Given the description of an element on the screen output the (x, y) to click on. 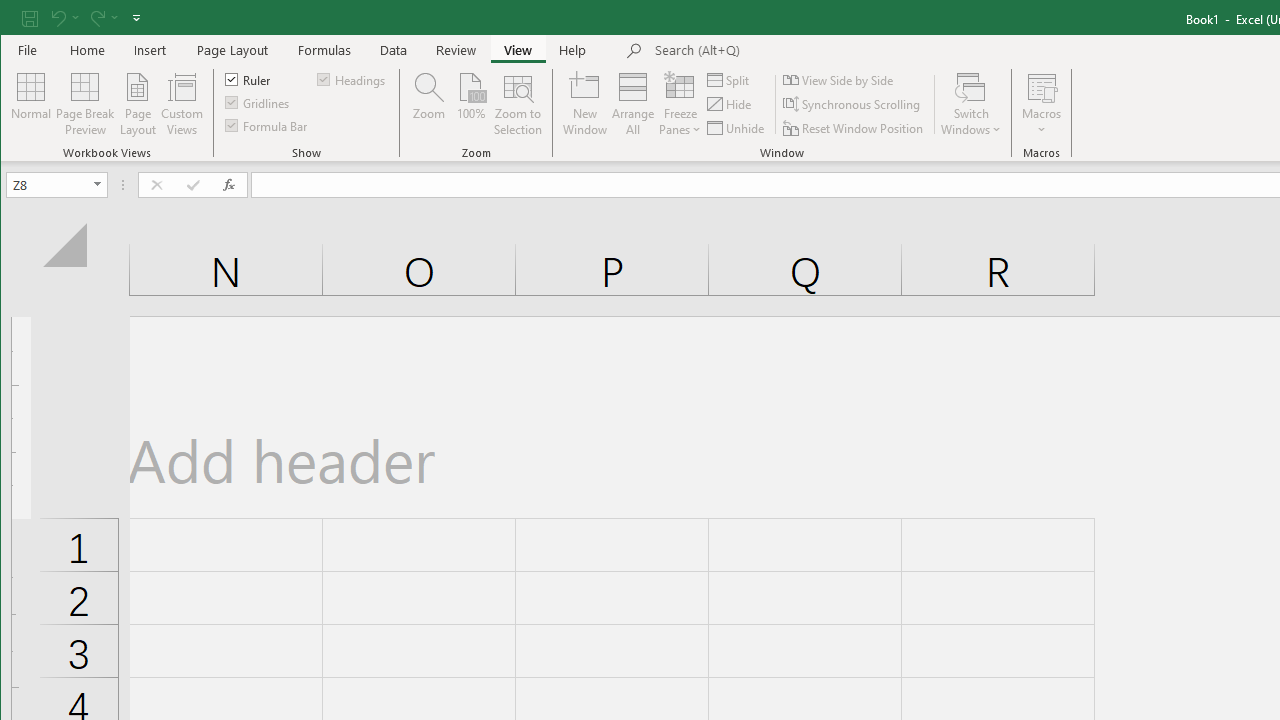
View (518, 50)
Switch Windows (971, 104)
Quick Access Toolbar (83, 17)
Ruler (248, 78)
New Window (585, 104)
Formulas (325, 50)
Arrange All (633, 104)
Normal (30, 104)
Redo (96, 17)
Headings (352, 78)
System (18, 18)
Data (394, 50)
Freeze Panes (680, 104)
Reset Window Position (854, 127)
